Given the description of an element on the screen output the (x, y) to click on. 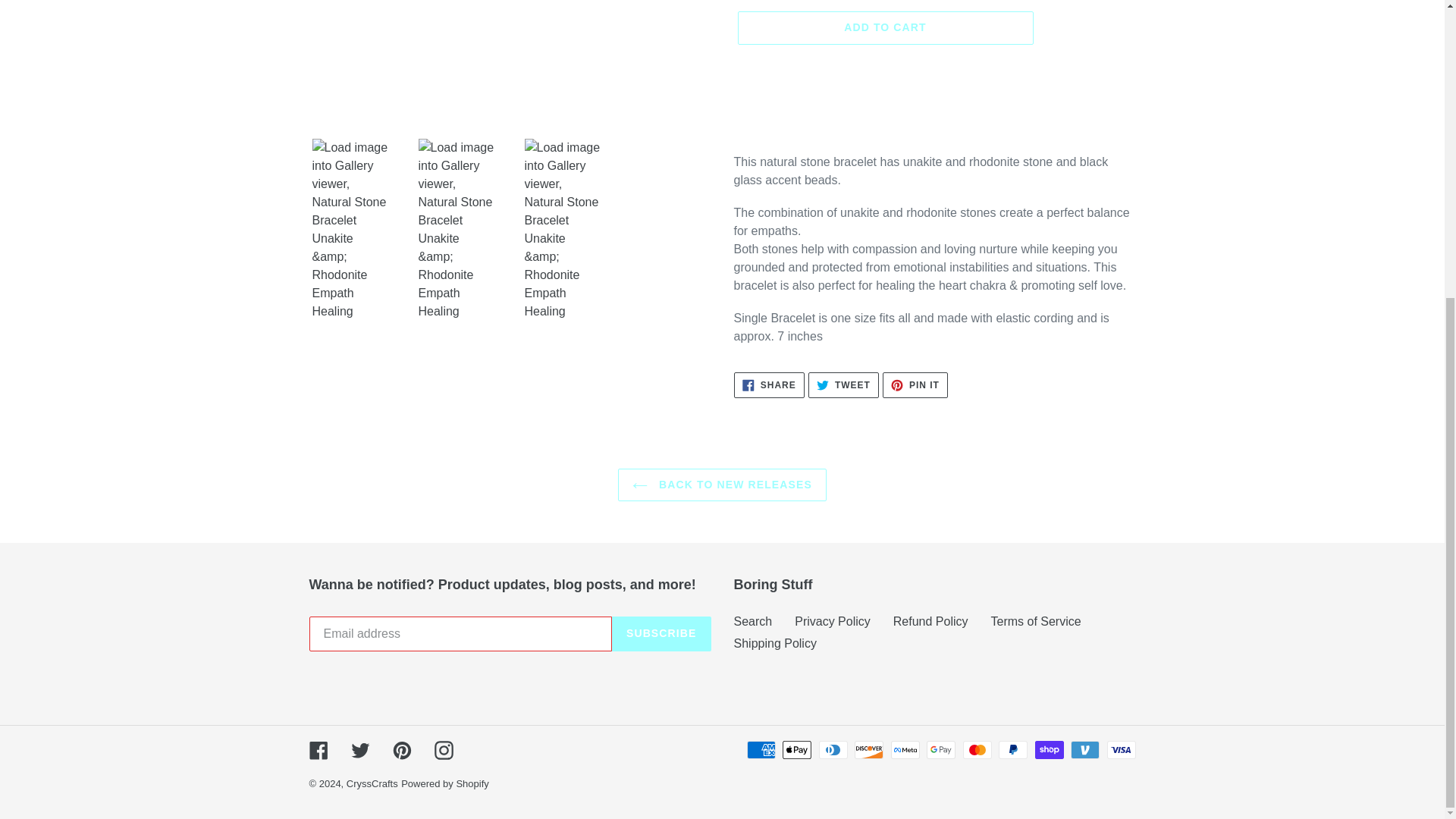
Privacy Policy (832, 620)
ADD TO CART (884, 28)
Facebook (318, 750)
Shipping Policy (769, 385)
Twitter (774, 643)
Pinterest (359, 750)
SUBSCRIBE (402, 750)
BACK TO NEW RELEASES (914, 385)
Search (843, 385)
Terms of Service (661, 632)
Refund Policy (722, 484)
